Given the description of an element on the screen output the (x, y) to click on. 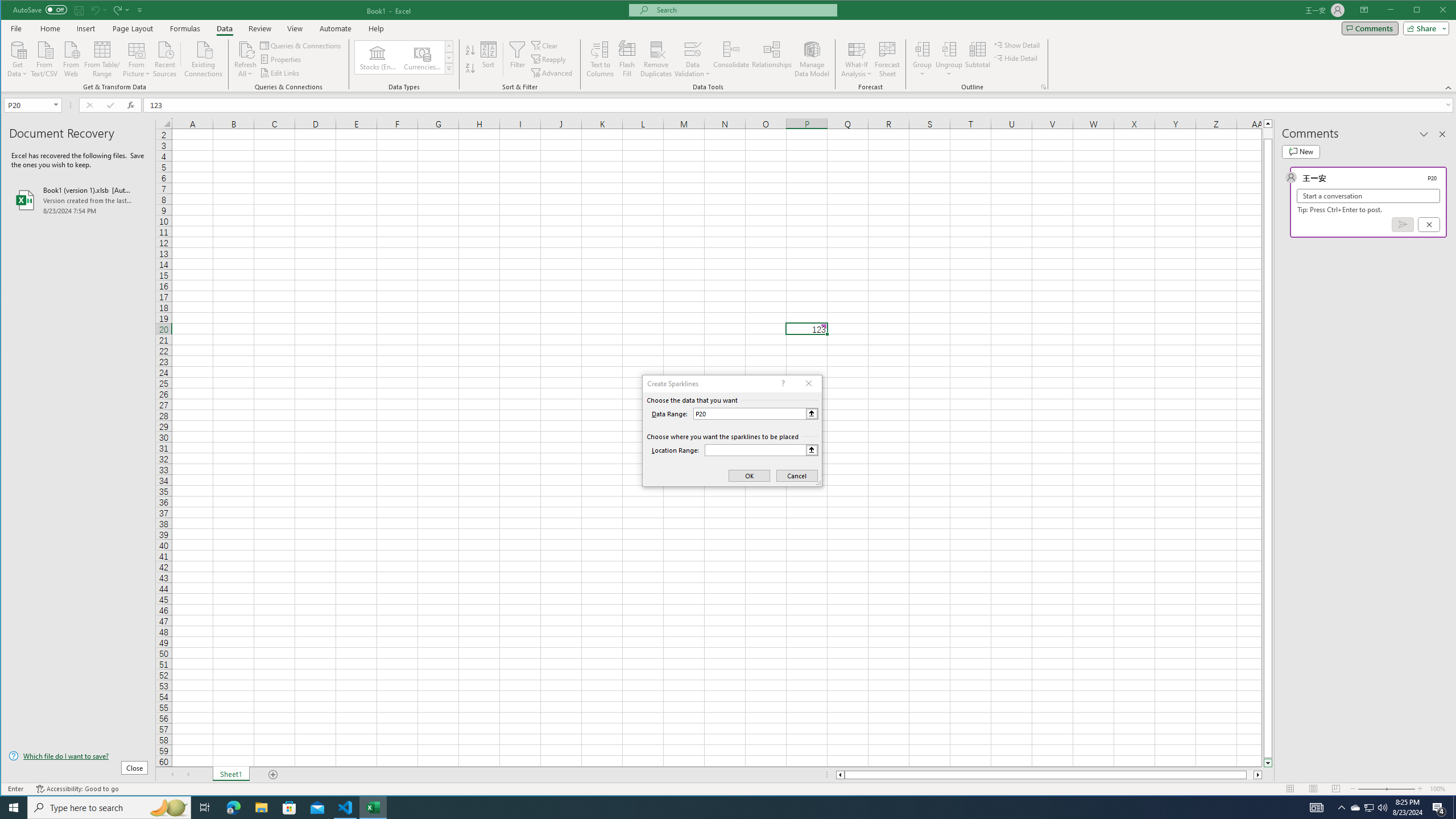
From Text/CSV (44, 57)
Consolidate... (731, 59)
Manage Data Model (812, 59)
Row Down (448, 57)
Flash Fill (627, 59)
